Given the description of an element on the screen output the (x, y) to click on. 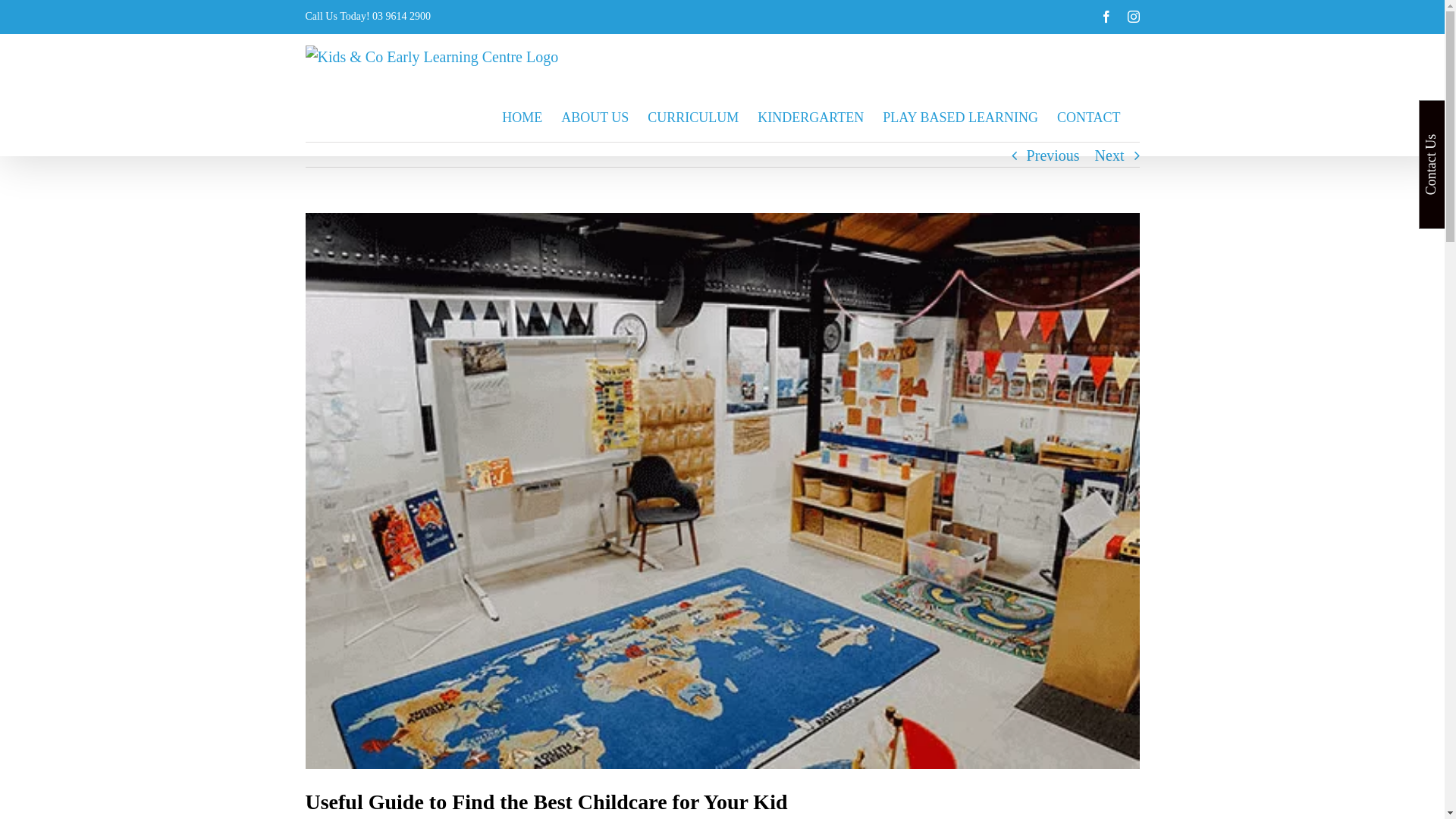
KINDERGARTEN Element type: text (810, 117)
CONTACT Element type: text (1088, 117)
Instagram Element type: text (1132, 16)
Facebook Element type: text (1105, 16)
CURRICULUM Element type: text (692, 117)
PLAY BASED LEARNING Element type: text (960, 117)
03 9614 2900 Element type: text (401, 15)
HOME Element type: text (522, 117)
ABOUT US Element type: text (594, 117)
Previous Element type: text (1052, 155)
Next Element type: text (1109, 155)
View Larger Image Element type: text (721, 490)
